Given the description of an element on the screen output the (x, y) to click on. 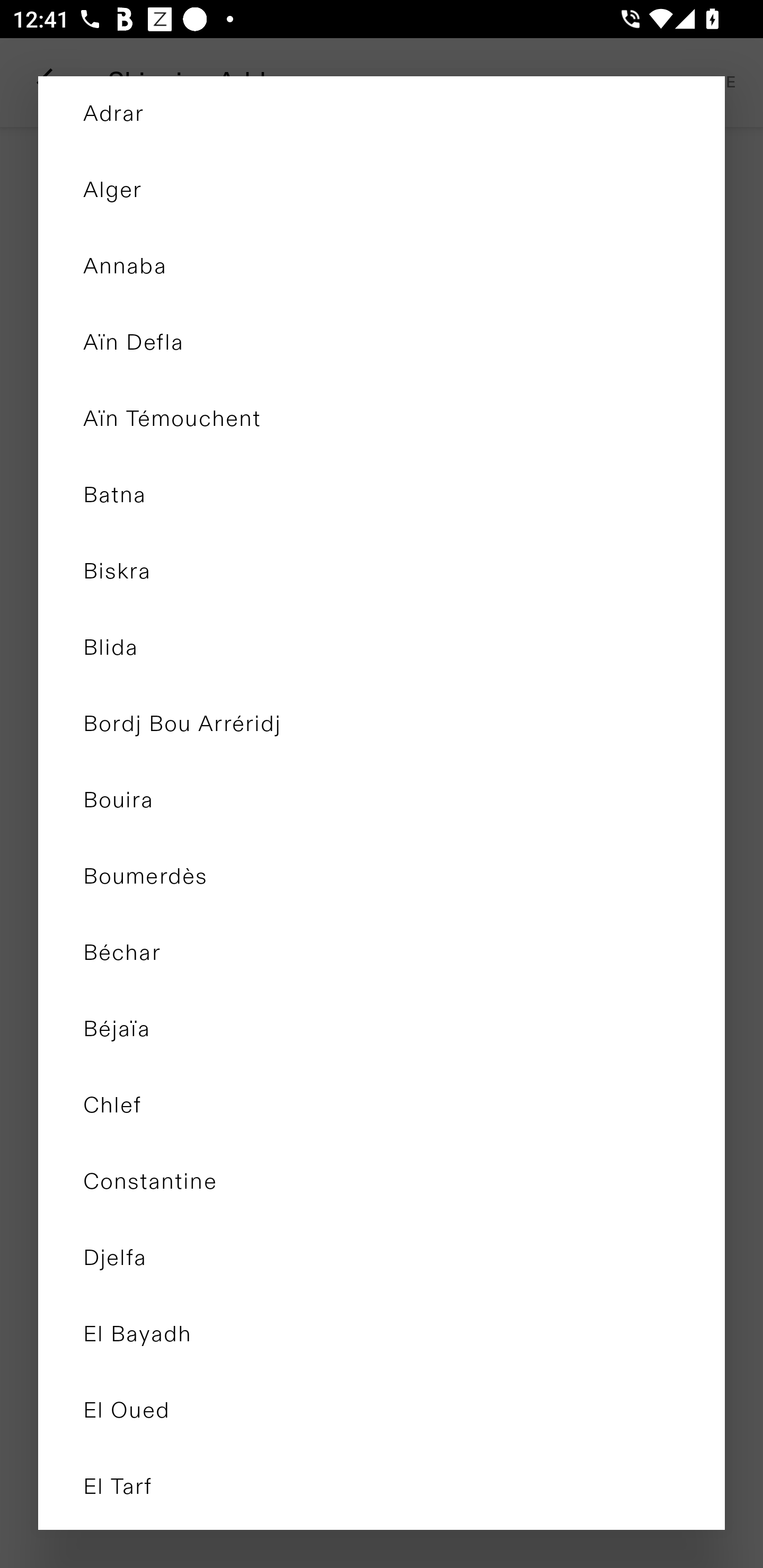
Alger (381, 190)
Annaba (381, 266)
Aïn Defla (381, 343)
Aïn Témouchent (381, 419)
Batna (381, 495)
Biskra (381, 571)
Blida (381, 647)
Bordj Bou Arréridj (381, 724)
Bouira (381, 800)
Boumerdès (381, 876)
Béchar (381, 952)
Béjaïa (381, 1028)
Chlef (381, 1105)
Constantine (381, 1181)
Djelfa (381, 1257)
El Bayadh (381, 1334)
El Oued (381, 1410)
El Tarf (381, 1486)
